Given the description of an element on the screen output the (x, y) to click on. 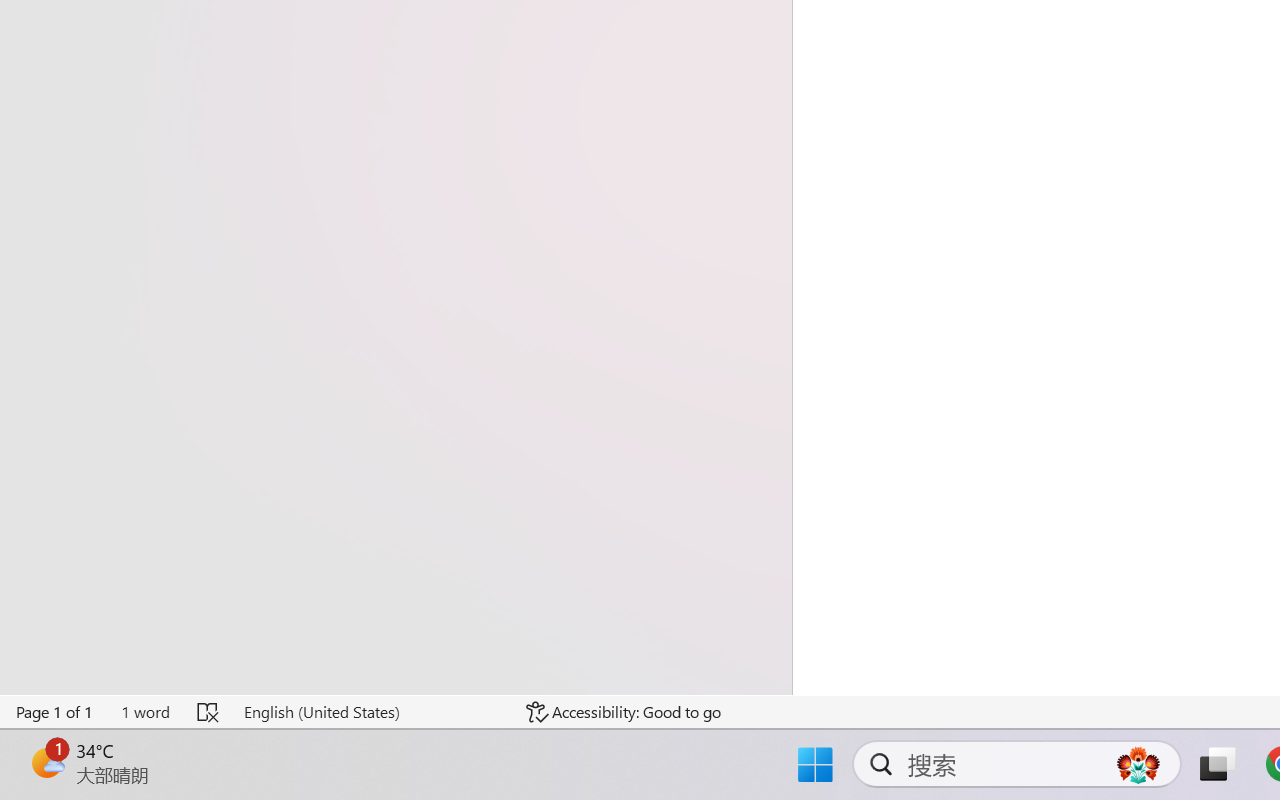
Spelling and Grammar Check Errors (208, 712)
